Given the description of an element on the screen output the (x, y) to click on. 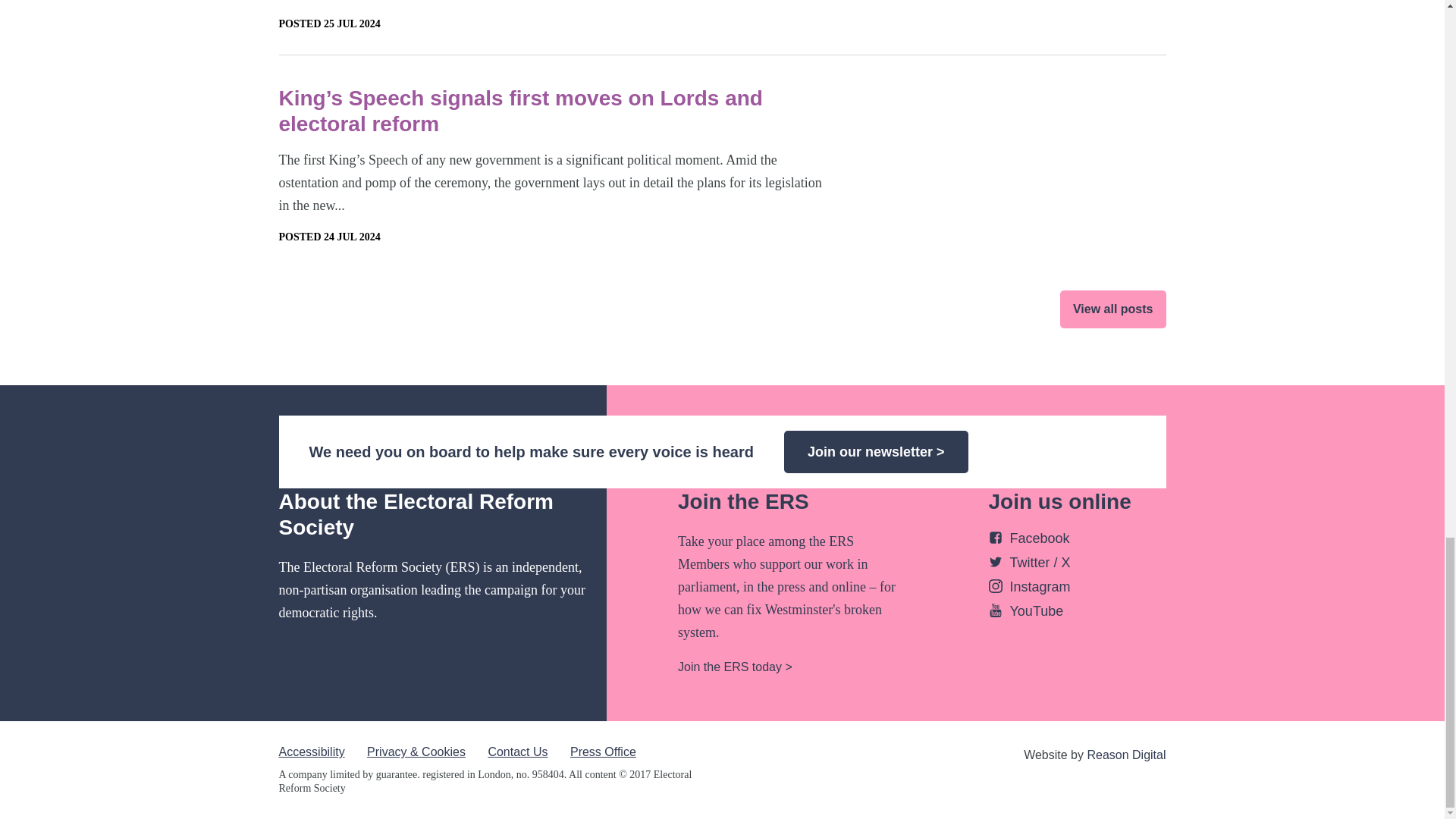
Facebook (1029, 538)
YouTube (1026, 611)
Instagram (1029, 586)
